Given the description of an element on the screen output the (x, y) to click on. 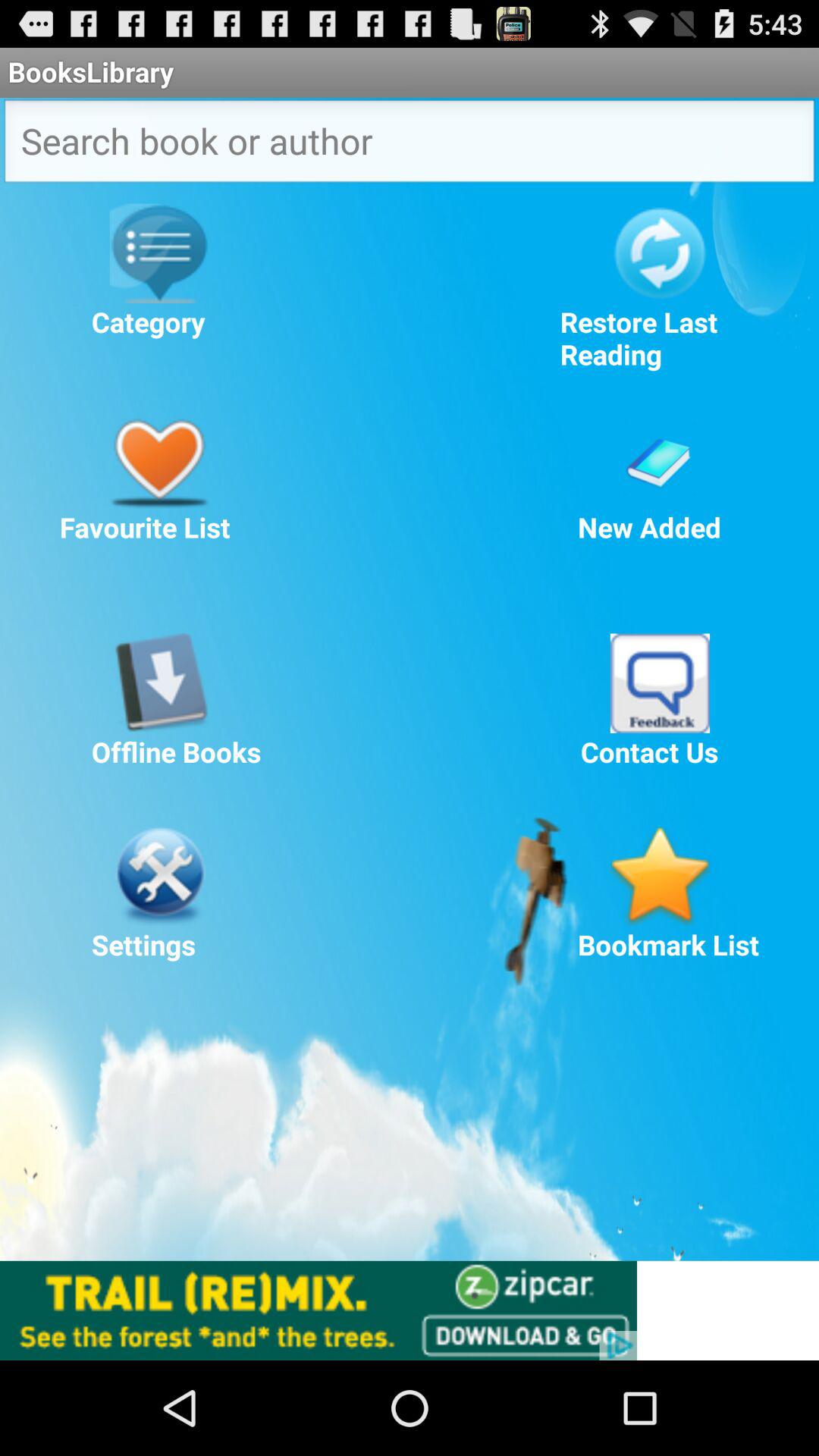
go to favourite list (158, 458)
